Given the description of an element on the screen output the (x, y) to click on. 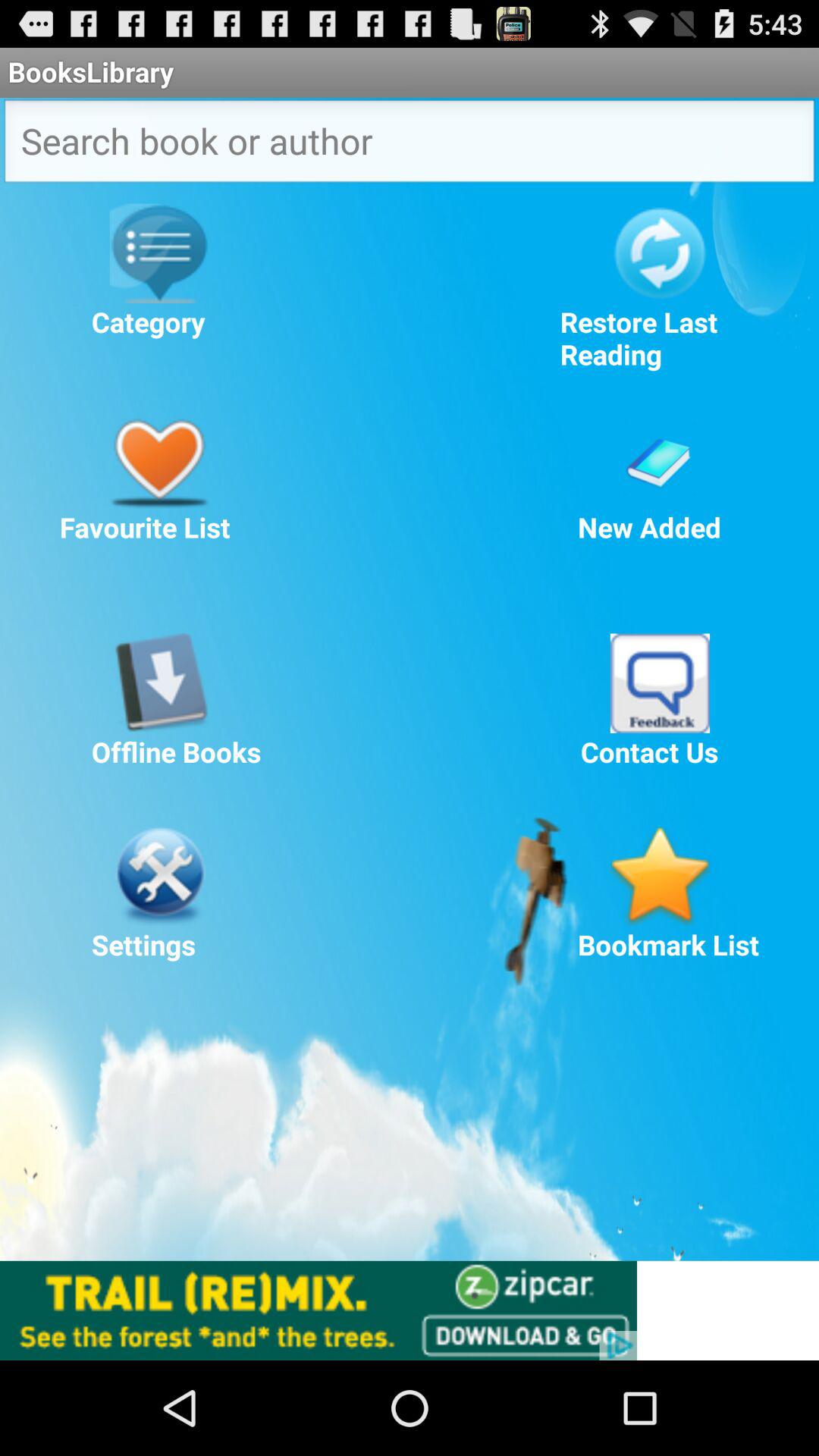
go to favourite list (158, 458)
